Given the description of an element on the screen output the (x, y) to click on. 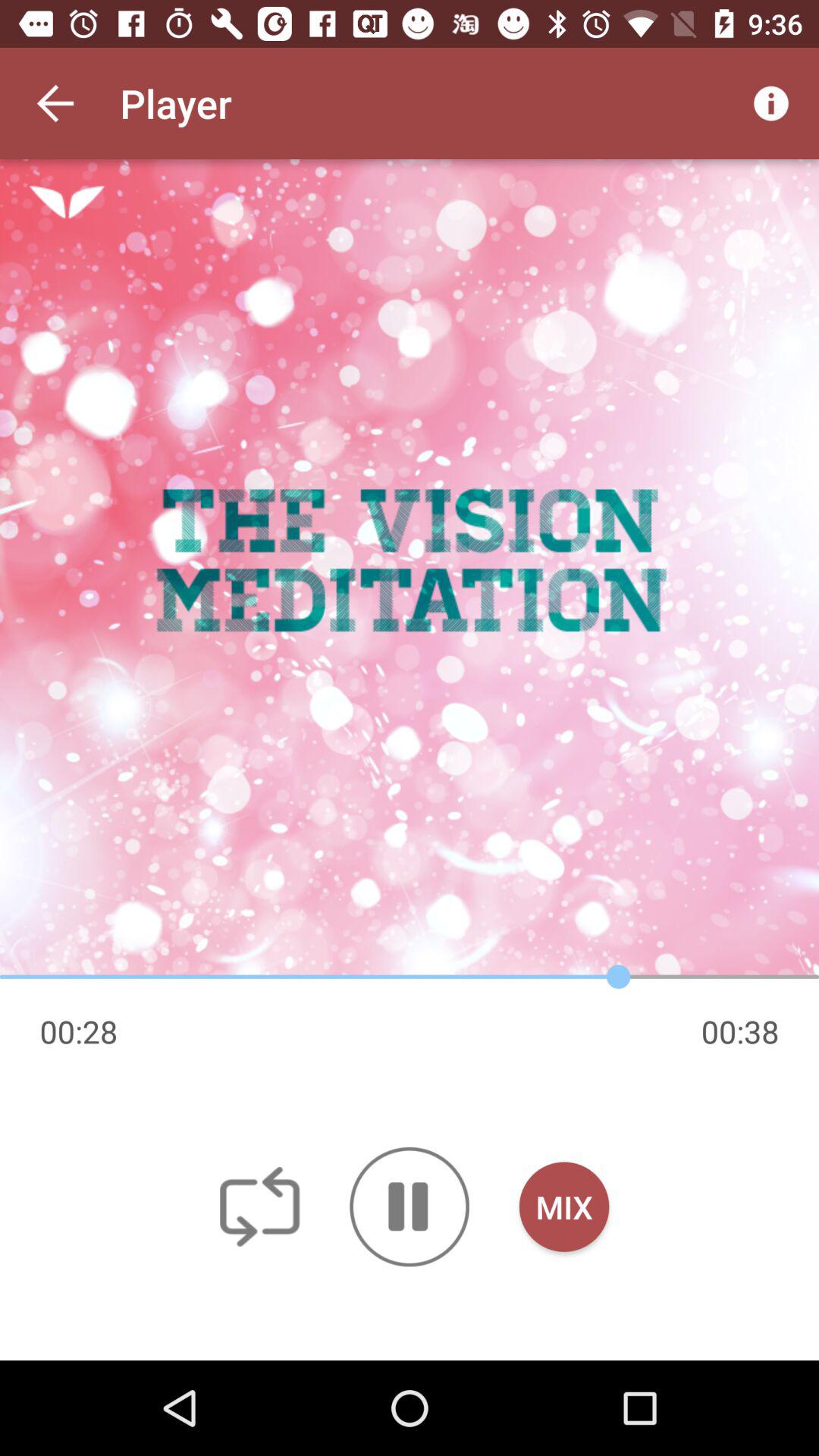
tap item to the right of the off item (409, 1206)
